Given the description of an element on the screen output the (x, y) to click on. 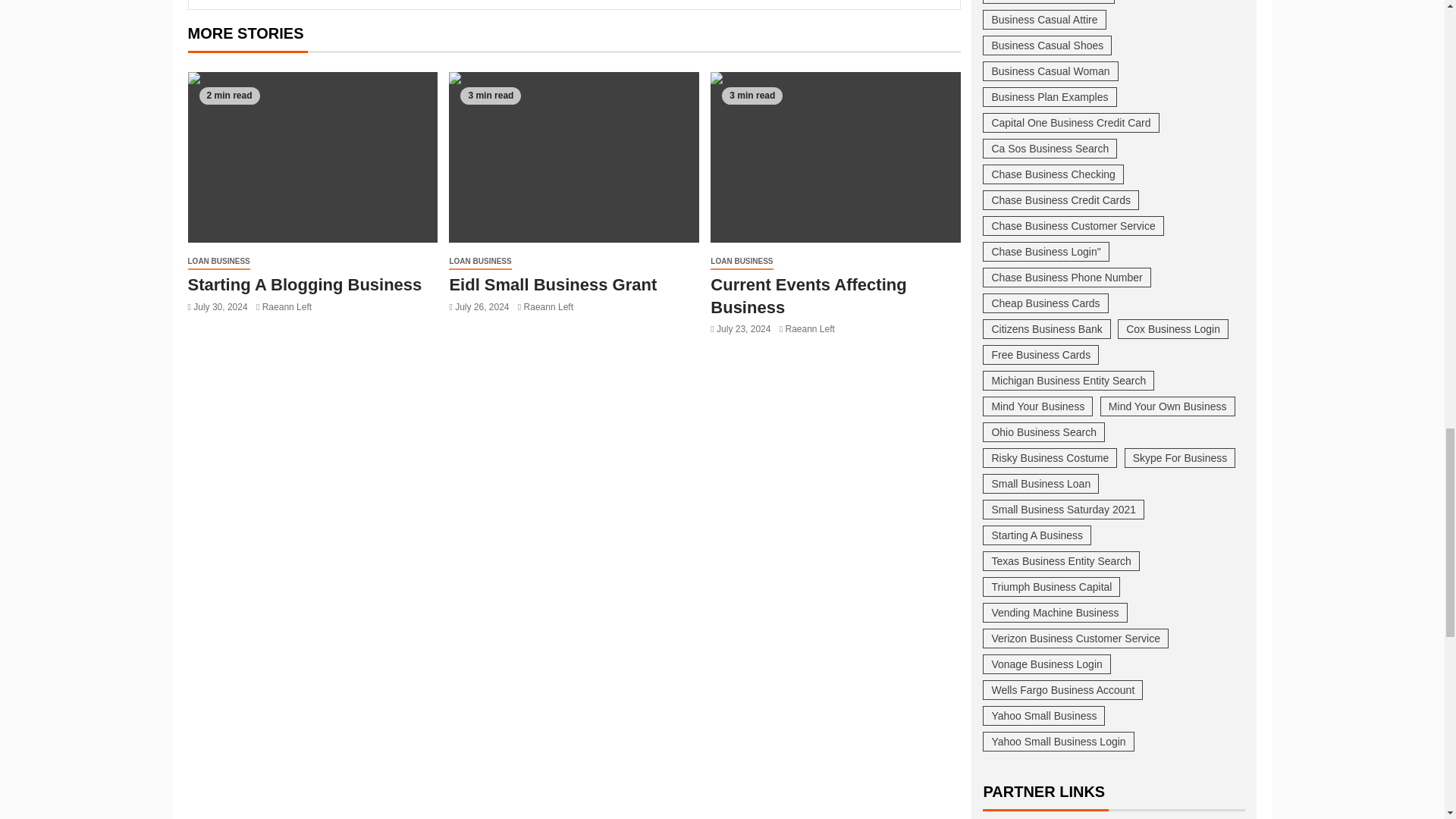
LOAN BUSINESS (218, 261)
Eidl Small Business Grant (573, 157)
Starting A Blogging Business (312, 157)
Starting A Blogging Business (304, 284)
Current Events Affecting Business (835, 157)
Raeann Left (286, 307)
